Given the description of an element on the screen output the (x, y) to click on. 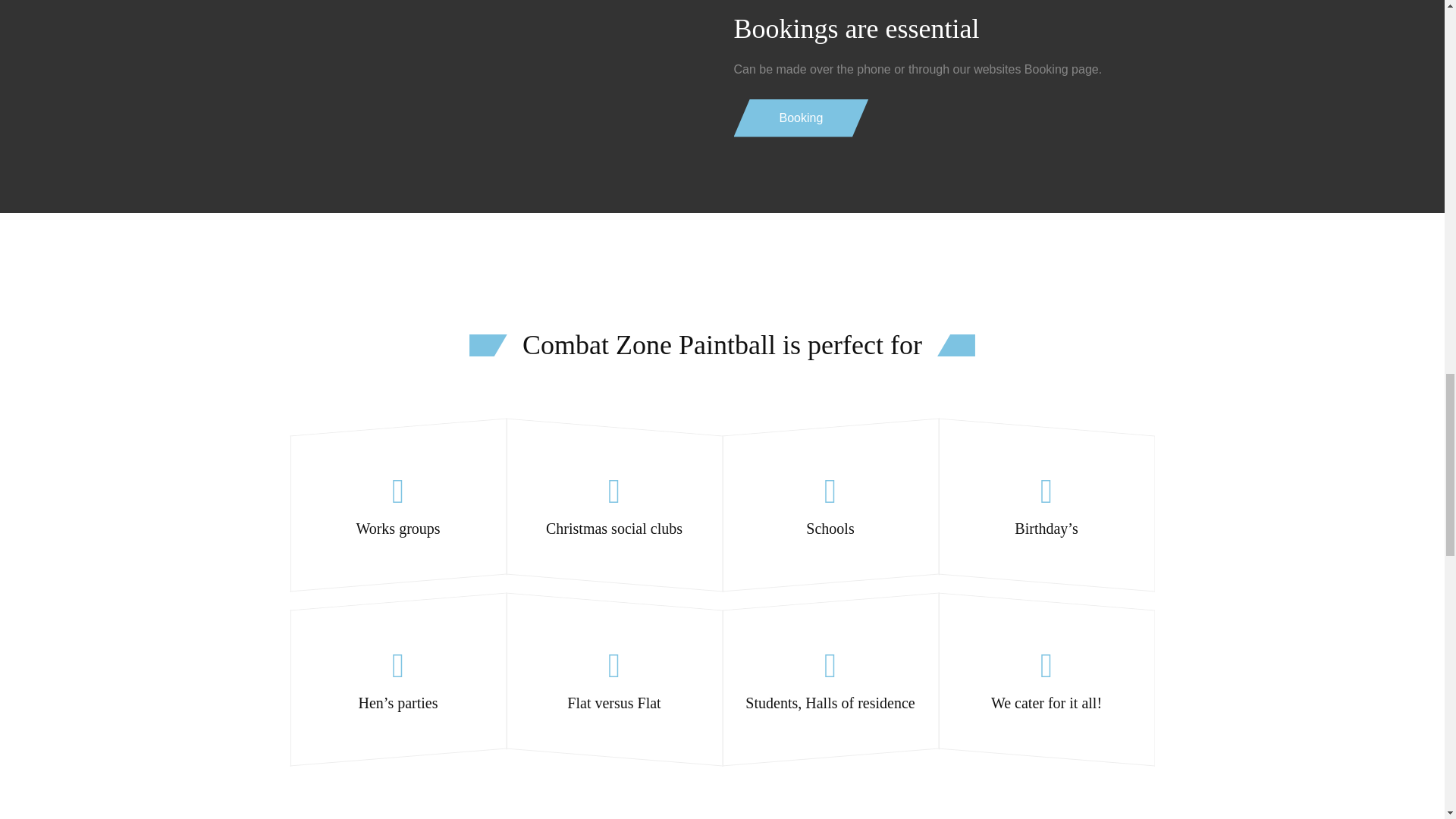
Booking (801, 118)
